Given the description of an element on the screen output the (x, y) to click on. 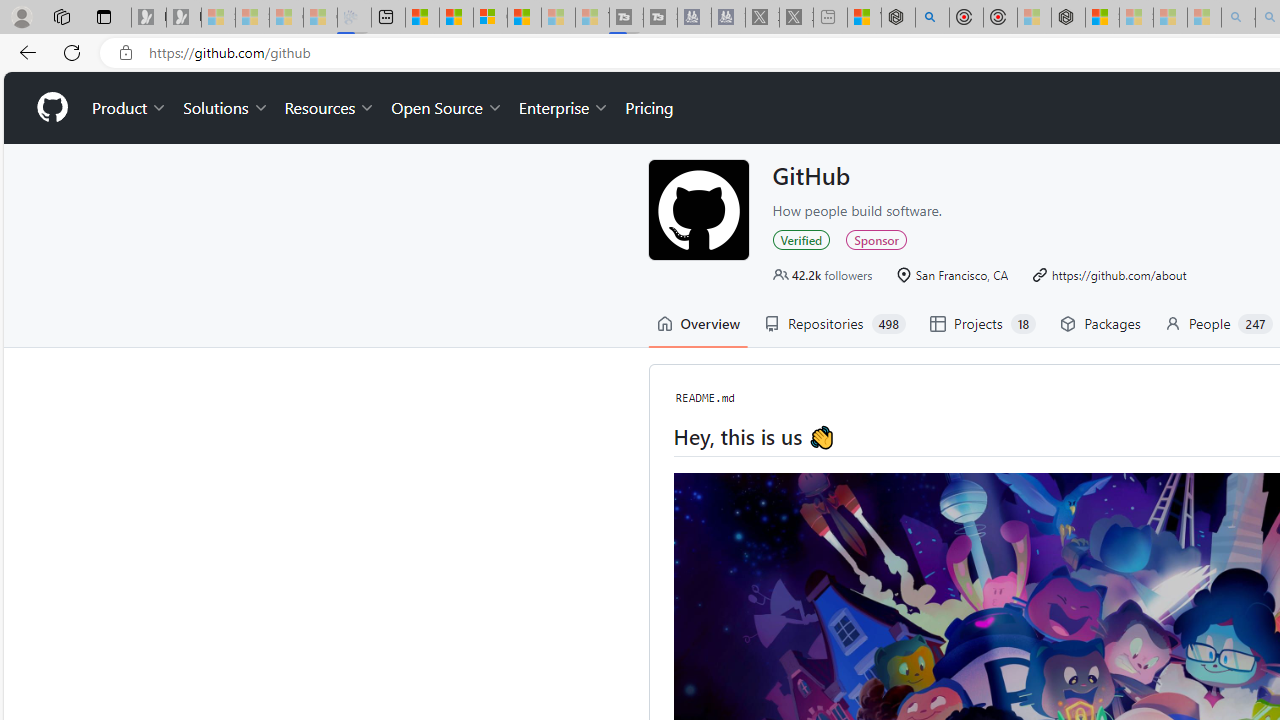
Projects18 (982, 323)
Sponsor (876, 238)
@github (697, 209)
Verified (800, 238)
Homepage (51, 107)
Overview (697, 323)
Newsletter Sign Up - Sleeping (183, 17)
Product (130, 107)
README.md (705, 397)
https://github.com/about (1118, 274)
